Given the description of an element on the screen output the (x, y) to click on. 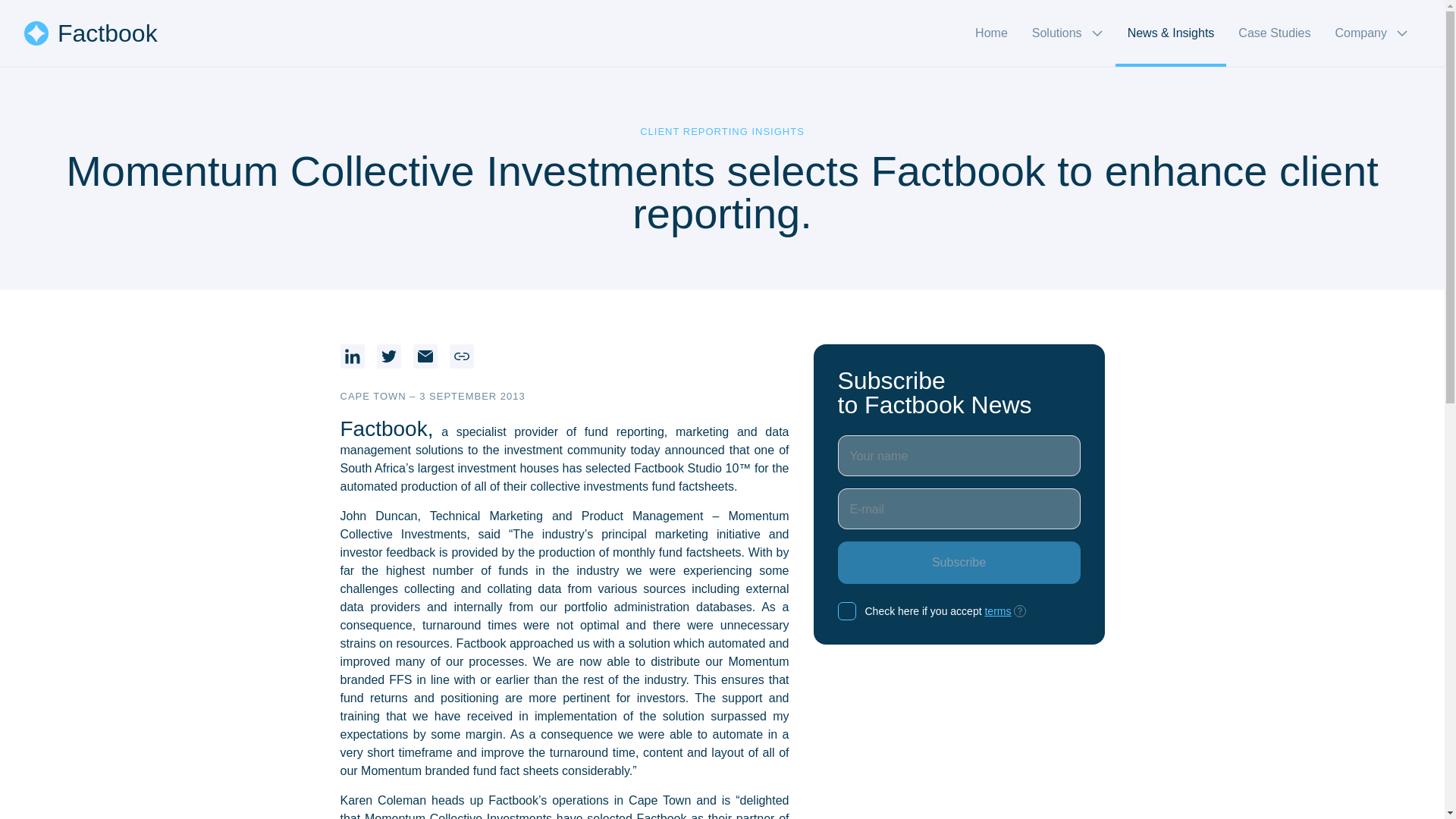
terms (997, 611)
Home (991, 33)
Factbook (90, 33)
Subscribe (958, 562)
Case Studies (1274, 33)
